Given the description of an element on the screen output the (x, y) to click on. 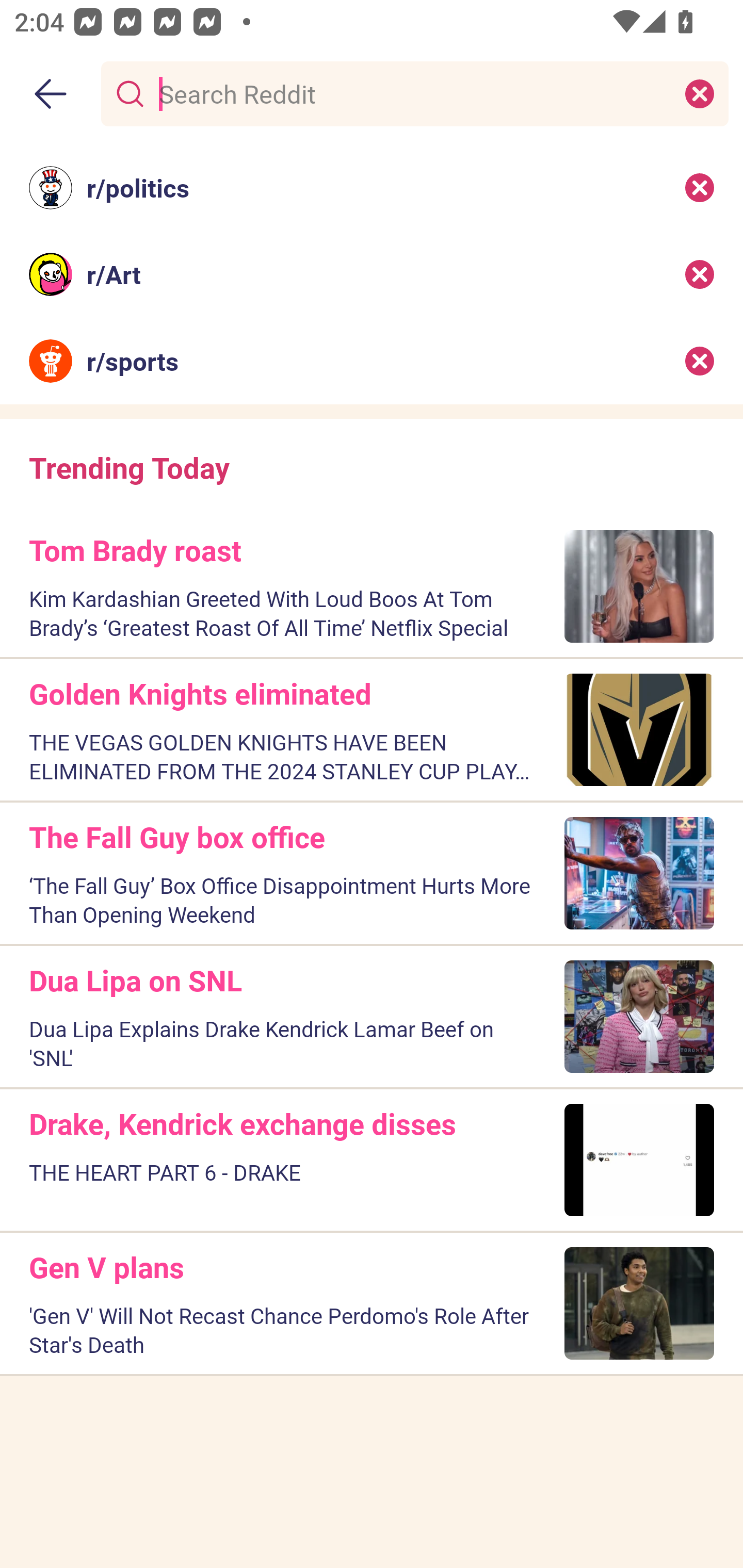
Back (50, 93)
Search Reddit (410, 93)
Clear search (699, 93)
r/politics Recent search: r/politics Remove (371, 187)
Remove (699, 187)
r/Art Recent search: r/Art Remove (371, 274)
Remove (699, 274)
r/sports Recent search: r/sports Remove (371, 361)
Remove (699, 361)
